Given the description of an element on the screen output the (x, y) to click on. 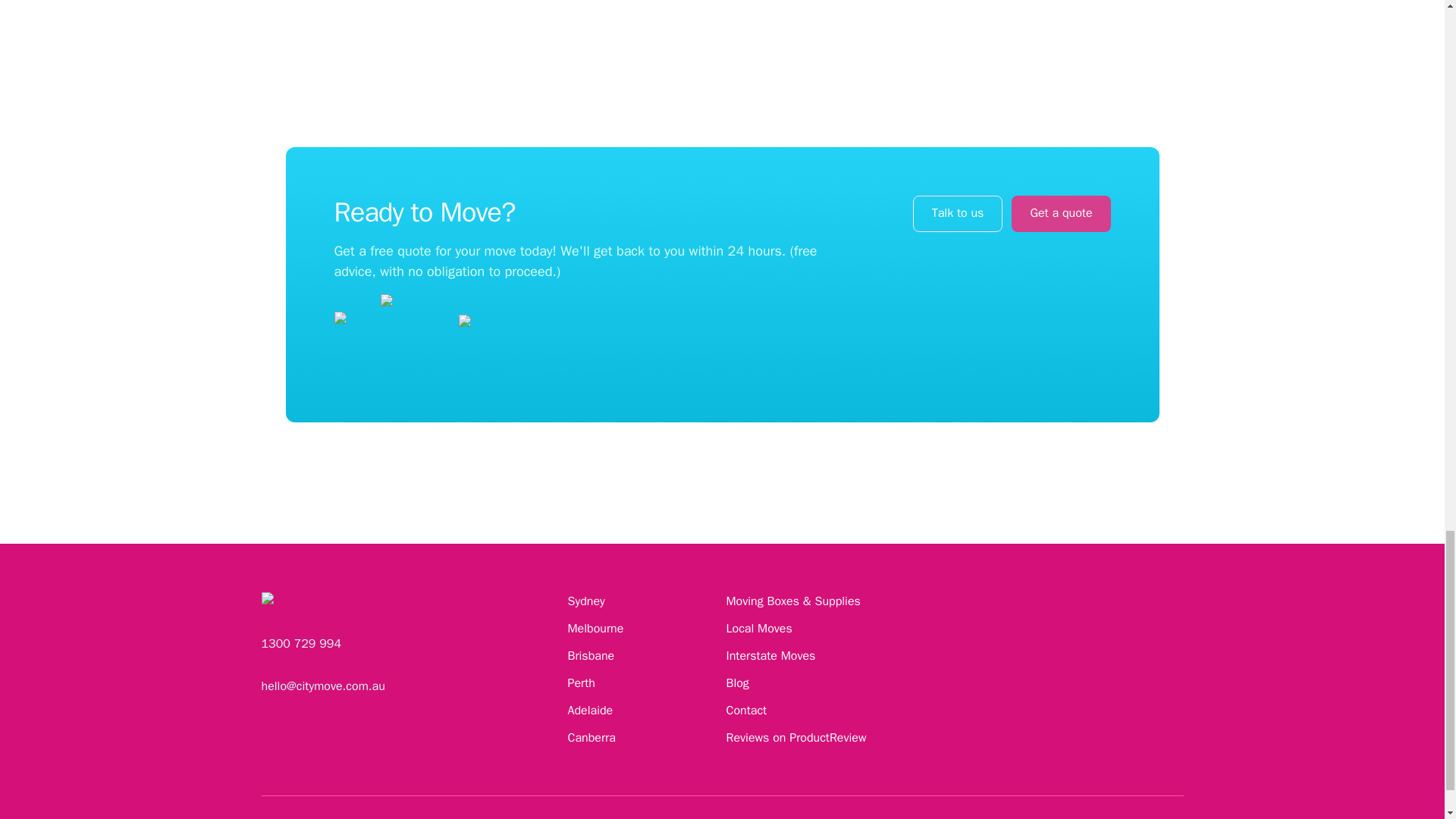
Adelaide (589, 710)
Talk to us (957, 213)
Local Moves (759, 628)
Blog (737, 683)
Sydney (585, 601)
1300 729 994 (300, 643)
Brisbane (590, 655)
Melbourne (595, 628)
Contact (746, 710)
Interstate Moves (770, 655)
Canberra (590, 737)
Reviews on ProductReview (796, 737)
Get a quote (1060, 213)
Perth (580, 683)
